Given the description of an element on the screen output the (x, y) to click on. 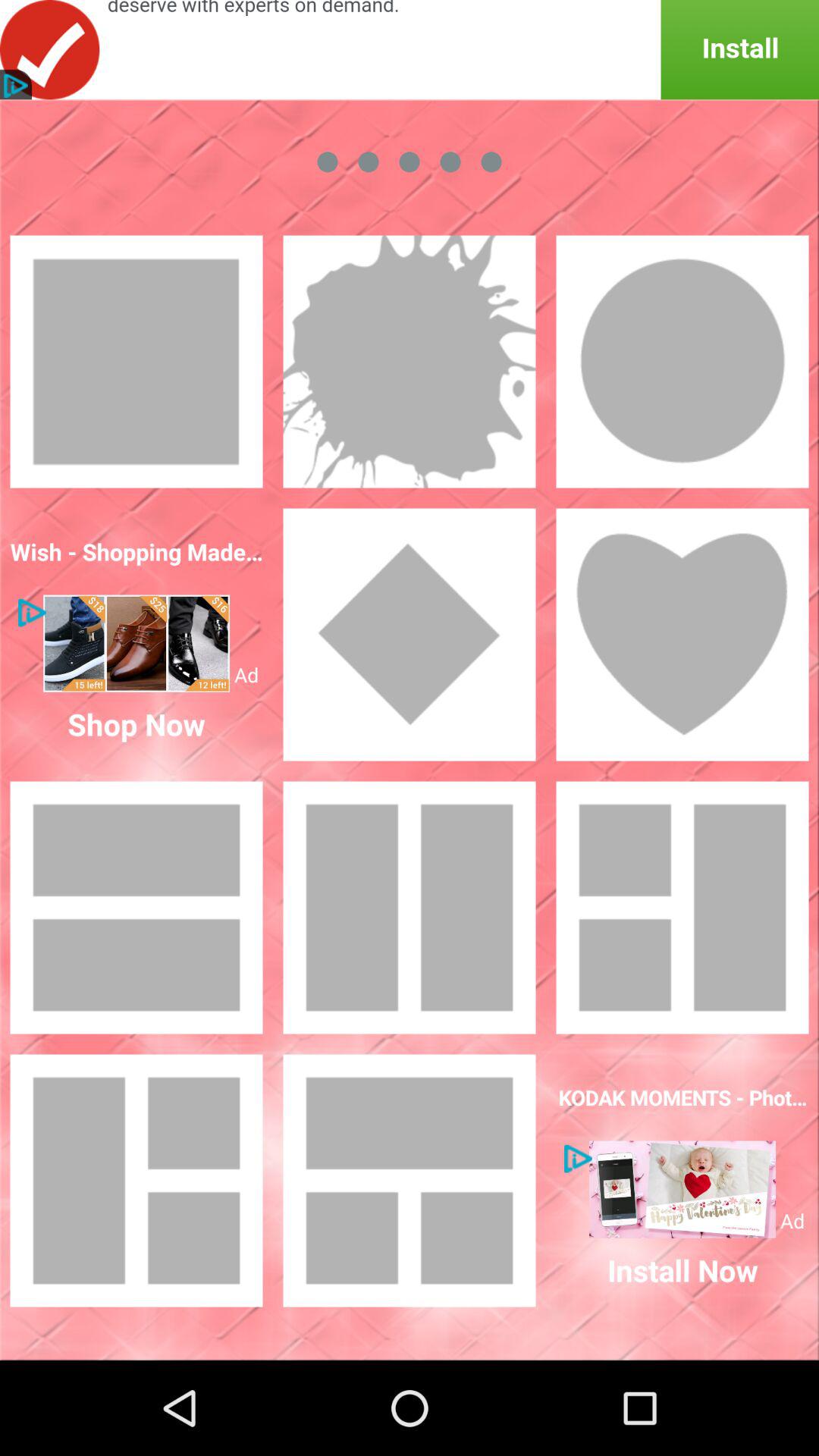
visit advertisement page (136, 643)
